Given the description of an element on the screen output the (x, y) to click on. 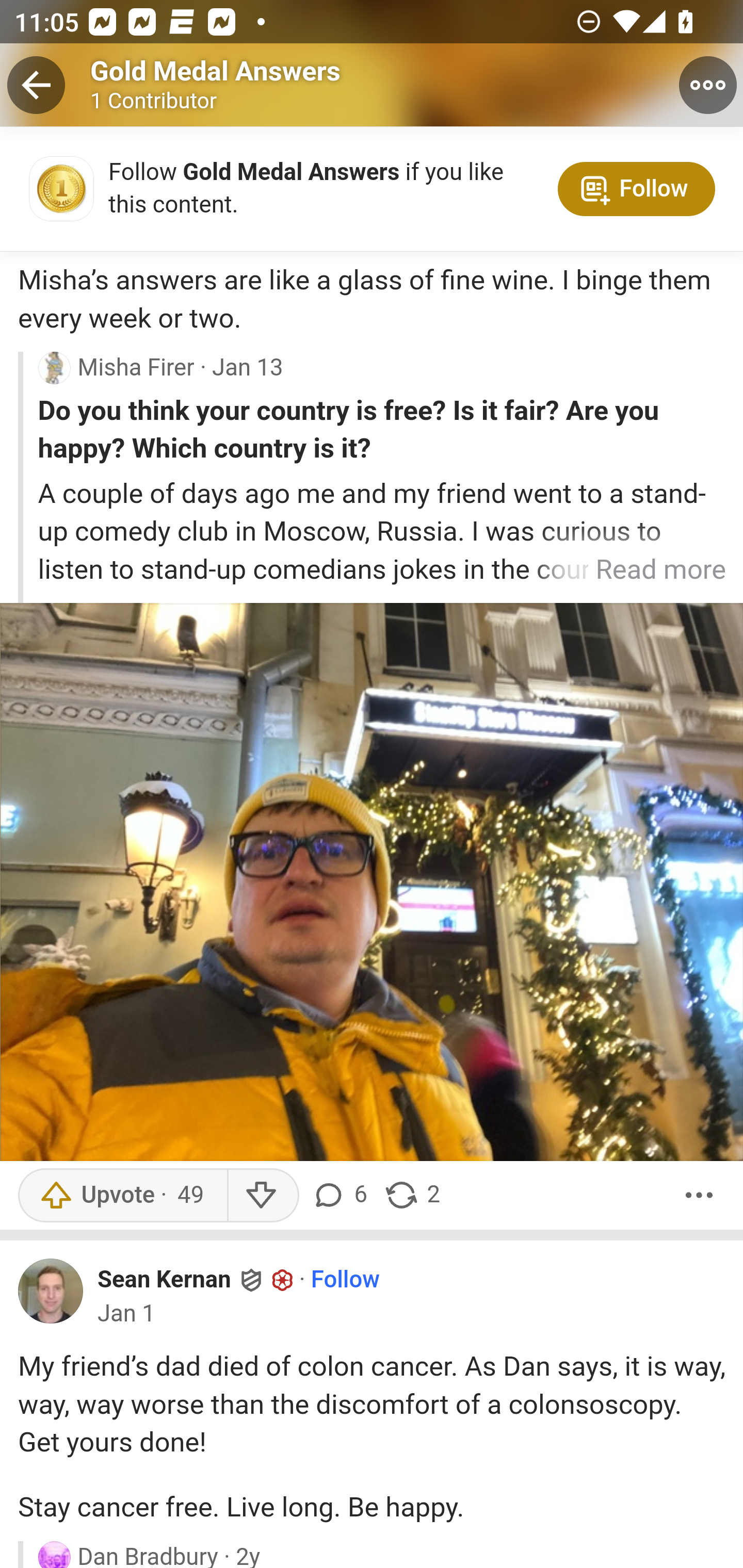
Profile photo for Misha Firer (54, 368)
Upvote (122, 1196)
Downvote (262, 1196)
6 comments (342, 1196)
2 shares (411, 1196)
More (699, 1196)
Profile photo for Sean Kernan (50, 1290)
Sean Kernan Sean Kernan     Space subscriber (195, 1280)
Follow (345, 1280)
Space subscriber (282, 1280)
Profile photo for Dan Bradbury (54, 1553)
